Given the description of an element on the screen output the (x, y) to click on. 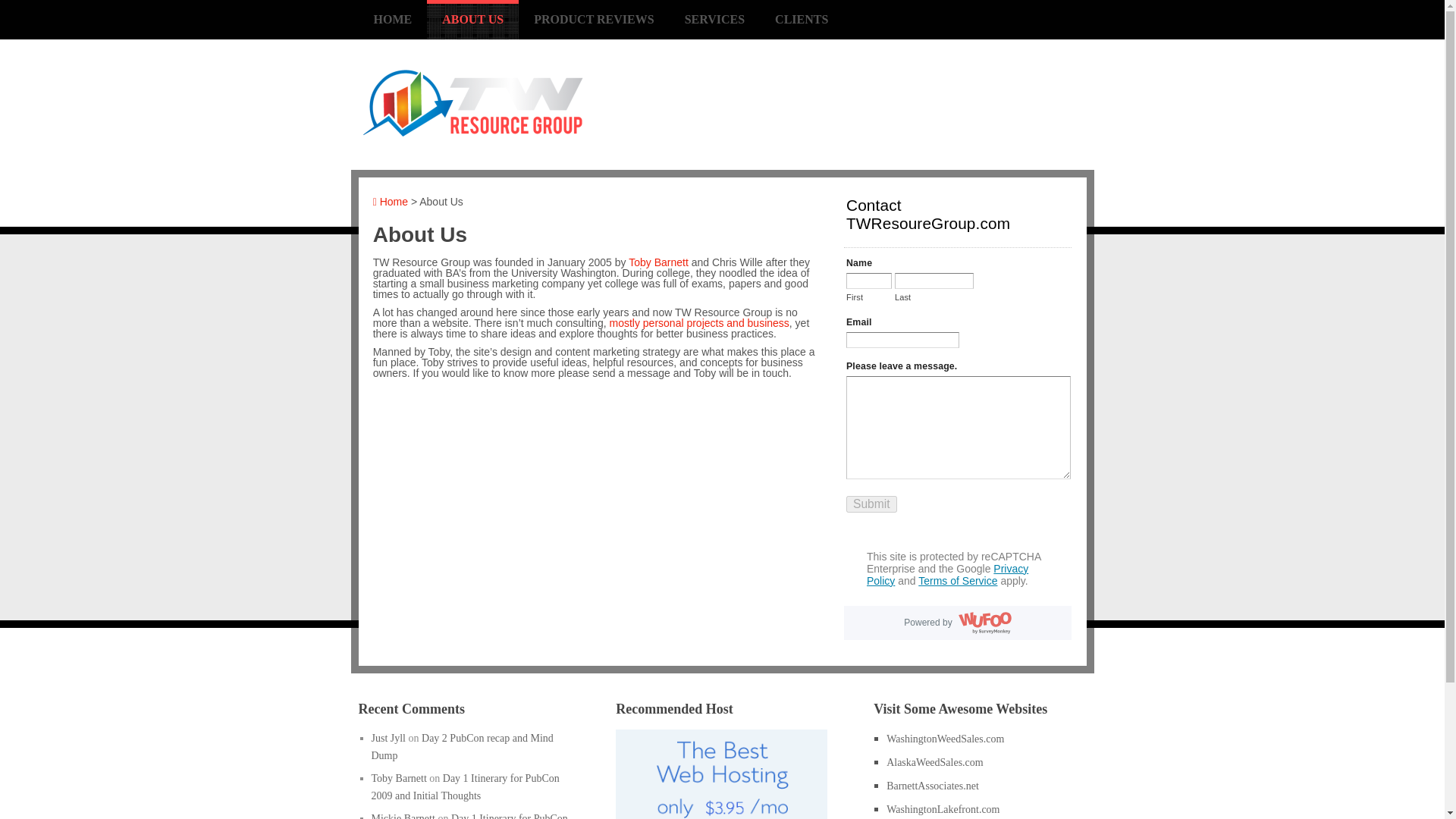
PRODUCT REVIEWS (593, 19)
Day 1 Itinerary for PubCon 2009 and Initial Thoughts (469, 816)
CLIENTS (801, 19)
SERVICES (714, 19)
BarnettAssociates.net (932, 785)
WashingtonLakefront.com (942, 808)
Day 2 PubCon recap and Mind Dump (462, 746)
Just Jyll (388, 737)
ABOUT US (472, 19)
clients of tw resource group (698, 322)
Day 1 Itinerary for PubCon 2009 and Initial Thoughts (465, 787)
Mickie Barnett (403, 816)
Toby Barnett (398, 778)
 Home (389, 201)
Toby Barnett (658, 262)
